Given the description of an element on the screen output the (x, y) to click on. 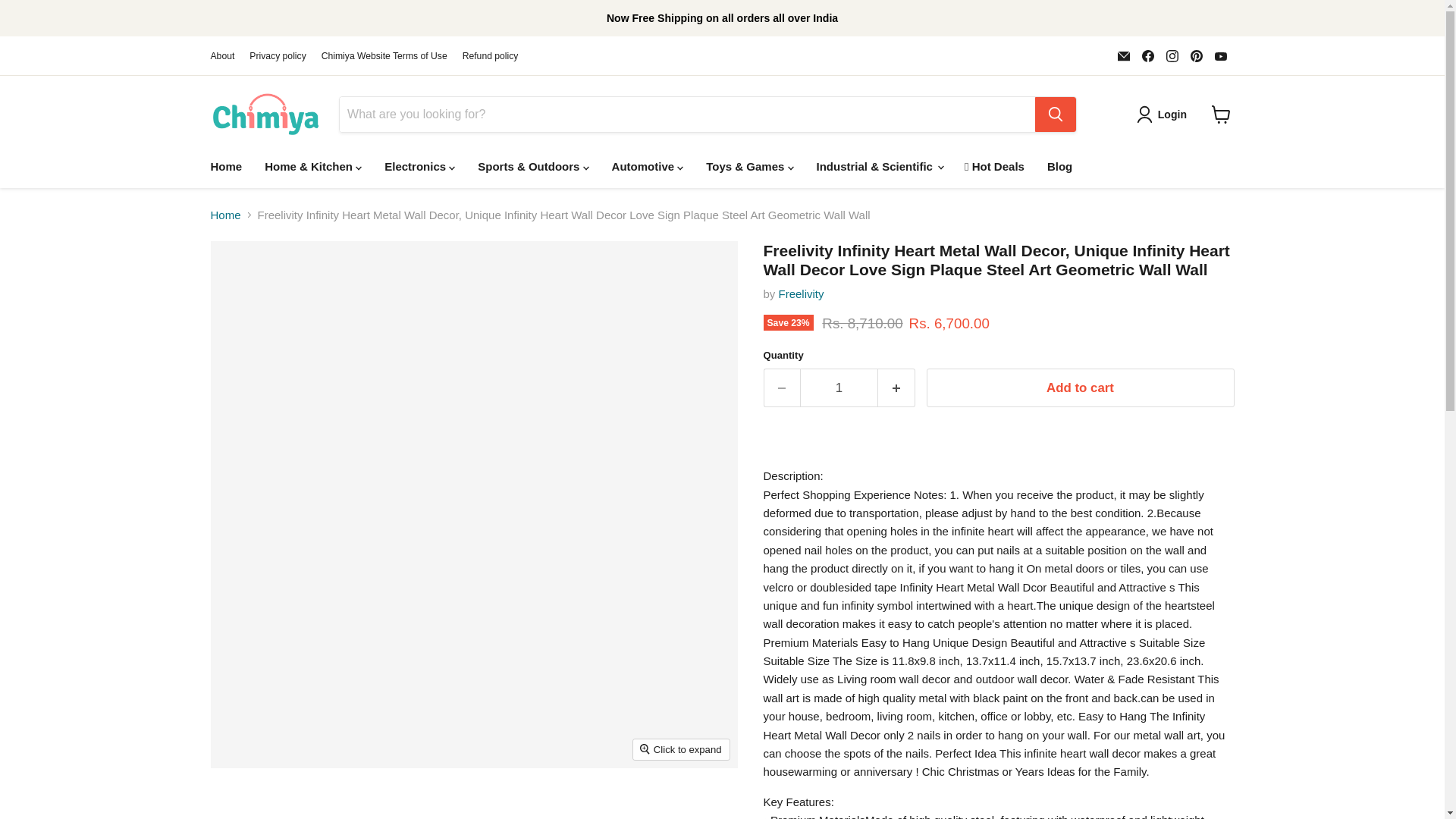
Login (1164, 114)
Pinterest (1196, 55)
Email Chimiya (1123, 55)
View cart (1221, 114)
Instagram (1171, 55)
Find us on YouTube (1220, 55)
Home (225, 165)
Find us on Pinterest (1196, 55)
YouTube (1220, 55)
Freelivity (801, 293)
Chimiya Website Terms of Use (383, 55)
Email (1123, 55)
Refund policy (490, 55)
Find us on Instagram (1171, 55)
1 (838, 387)
